Given the description of an element on the screen output the (x, y) to click on. 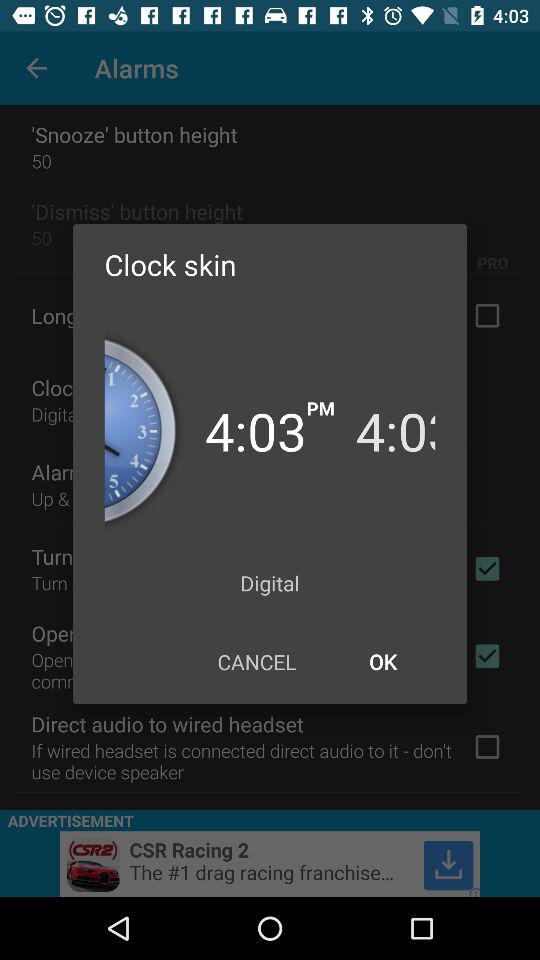
press the icon next to cancel icon (382, 661)
